Given the description of an element on the screen output the (x, y) to click on. 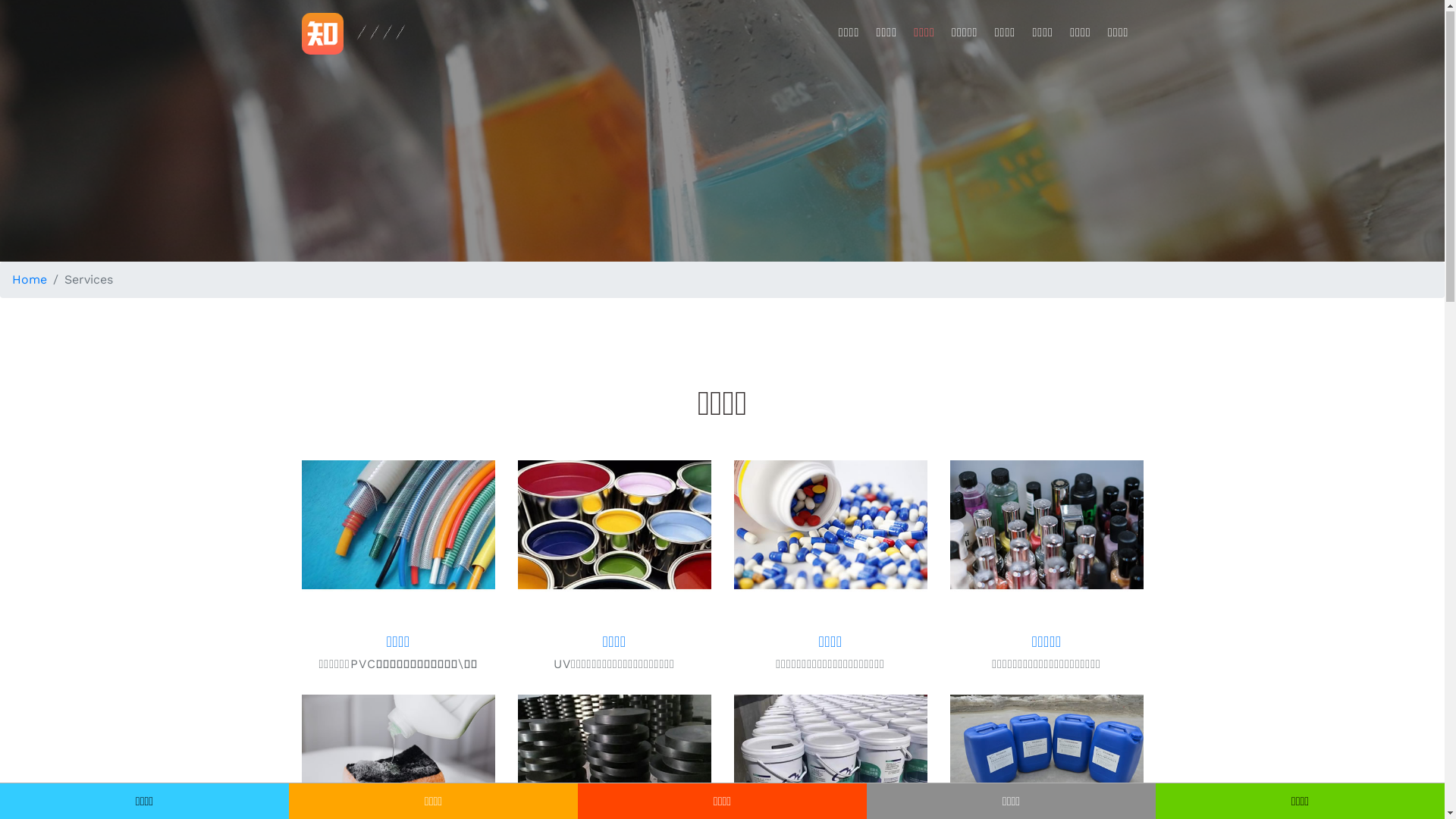
Home Element type: text (29, 280)
